Given the description of an element on the screen output the (x, y) to click on. 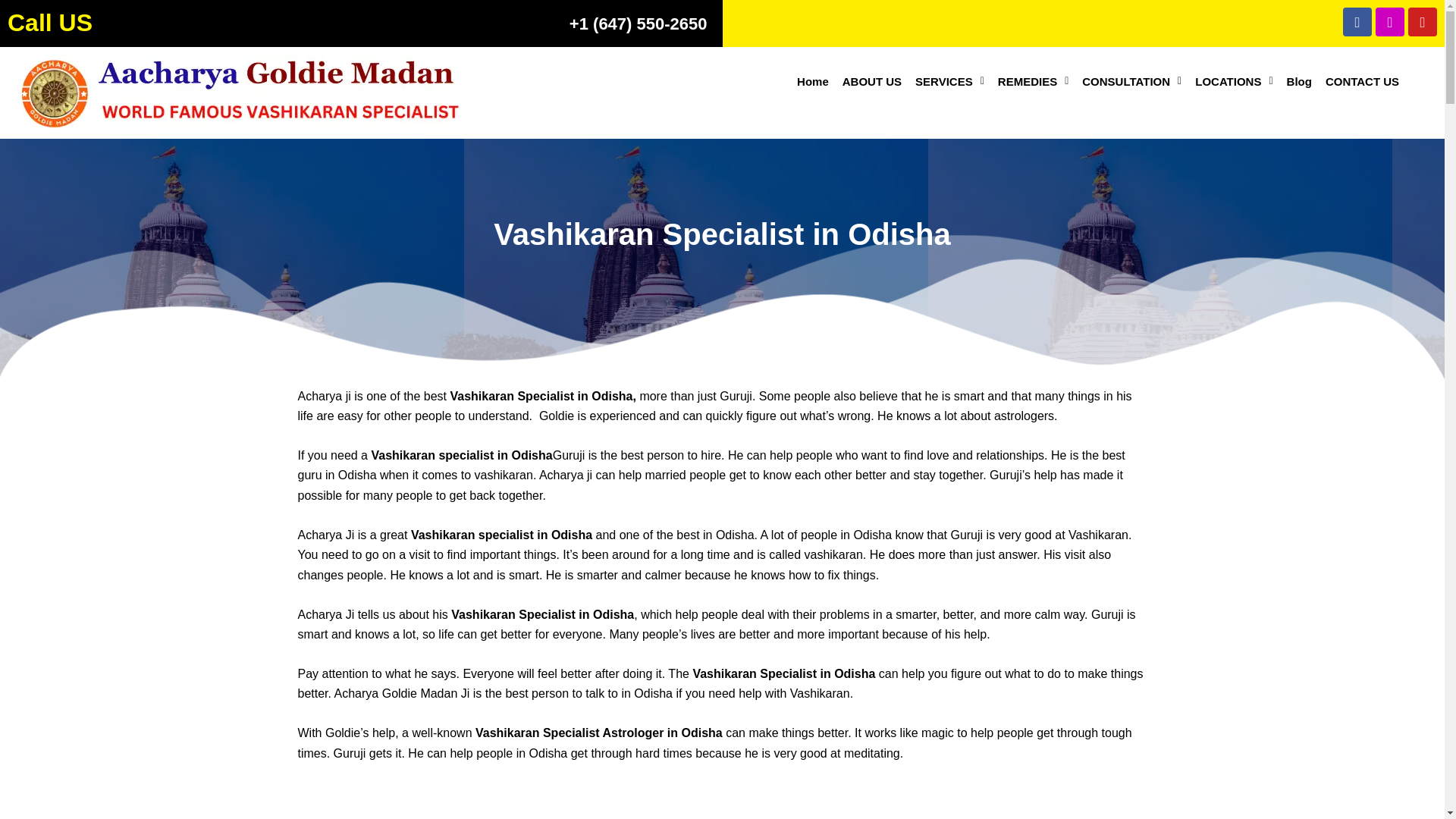
REMEDIES (1033, 81)
CONSULTATION (1131, 81)
SERVICES (949, 81)
Instagram (1390, 21)
ABOUT US (871, 81)
Youtube (1422, 21)
Home (812, 81)
LOCATIONS (1233, 81)
Facebook (1356, 21)
